Given the description of an element on the screen output the (x, y) to click on. 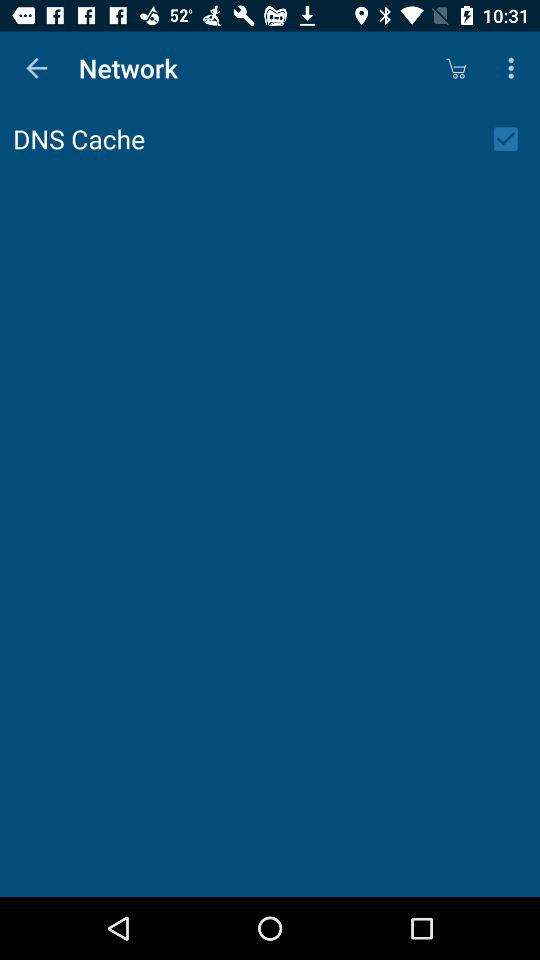
turn off the item next to network icon (36, 68)
